Given the description of an element on the screen output the (x, y) to click on. 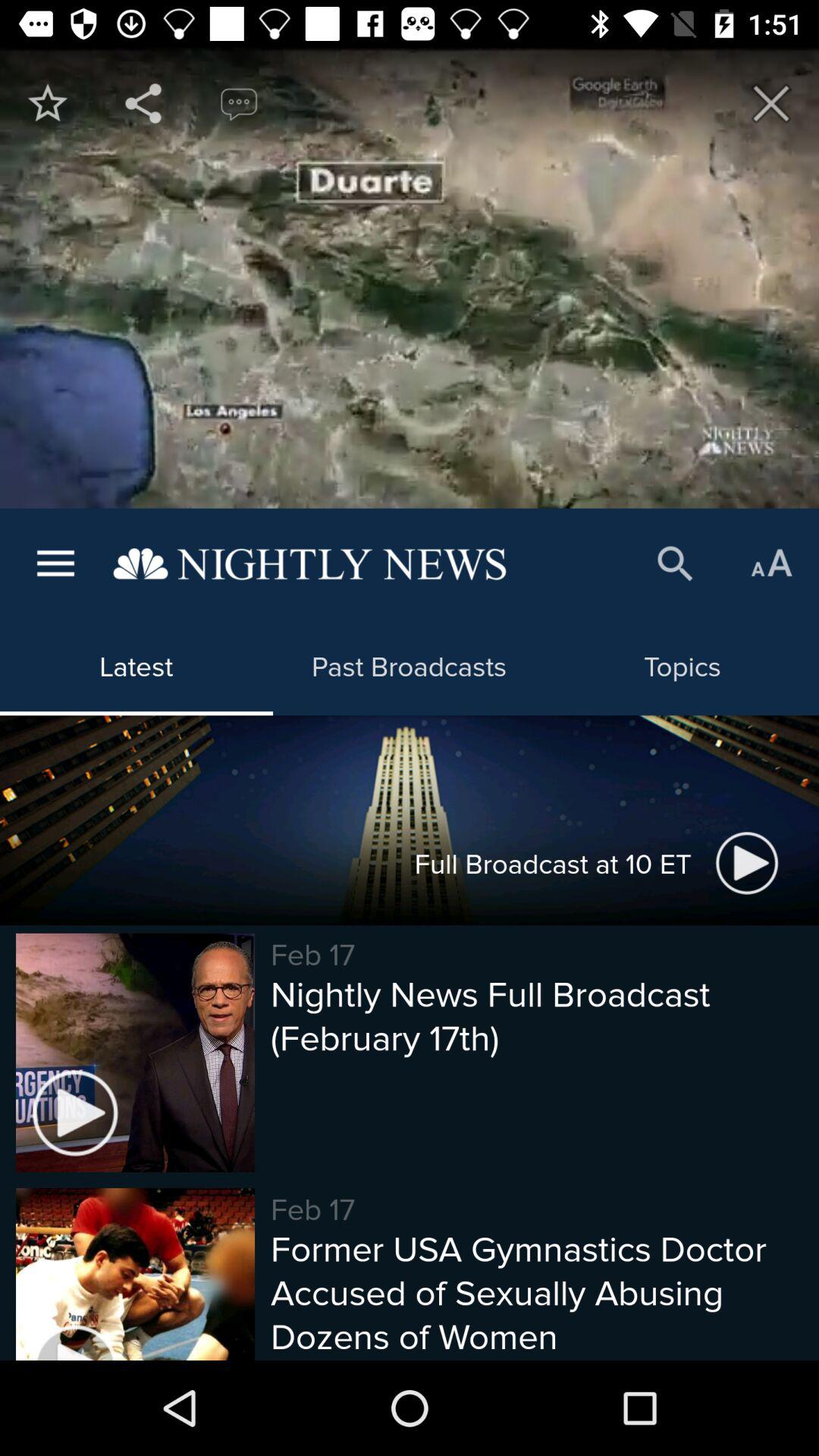
toggle to star (47, 103)
